Given the description of an element on the screen output the (x, y) to click on. 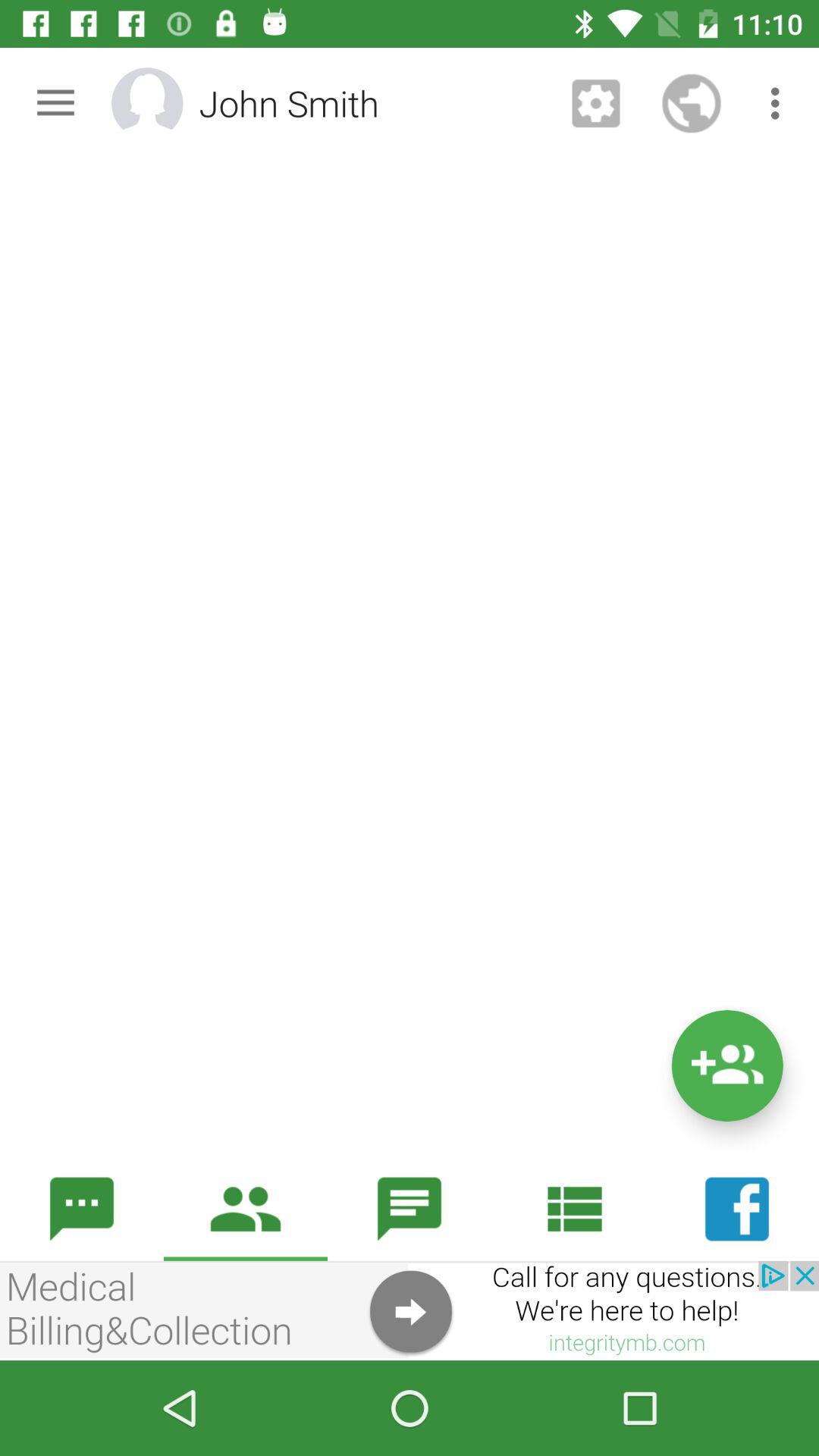
create new contact (727, 1065)
